Given the description of an element on the screen output the (x, y) to click on. 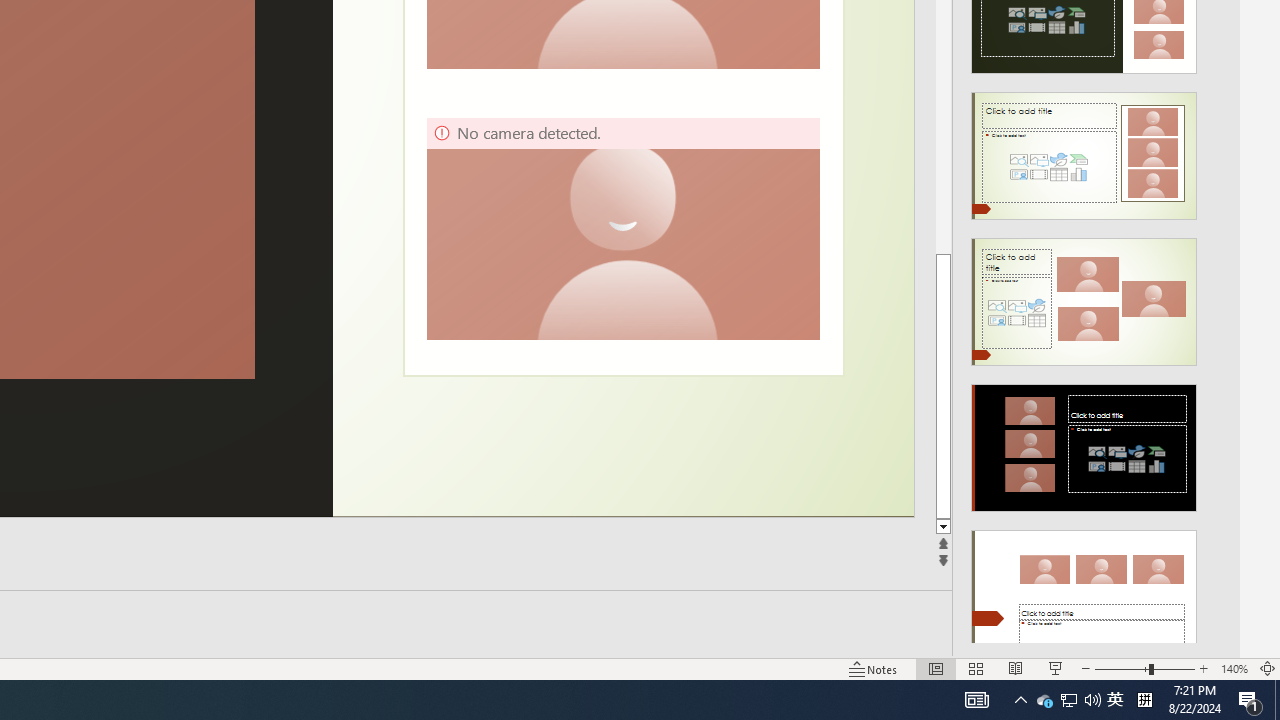
Line down (943, 527)
Design Idea (1083, 587)
Zoom 140% (1234, 668)
Camera 4, No camera detected. (622, 228)
